Given the description of an element on the screen output the (x, y) to click on. 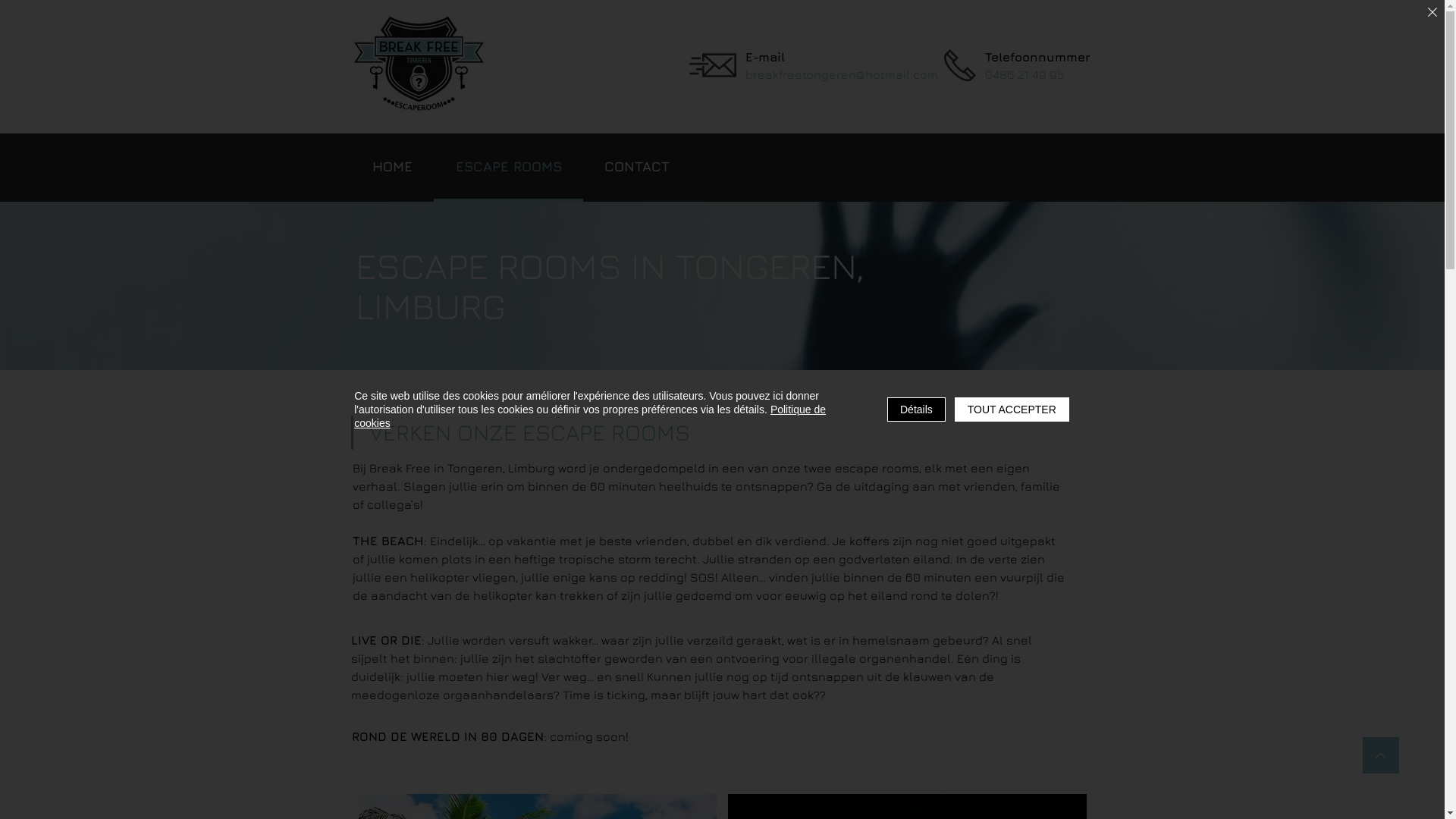
TOUT ACCEPTER Element type: text (1011, 409)
HOME Element type: text (391, 167)
0486 21 49 95 Element type: text (1023, 74)
ESCAPE ROOMS Element type: text (508, 167)
Politique de cookies Element type: text (589, 416)
breakfreetongeren@hotmail.com Element type: text (840, 74)
CONTACT Element type: text (637, 167)
